Given the description of an element on the screen output the (x, y) to click on. 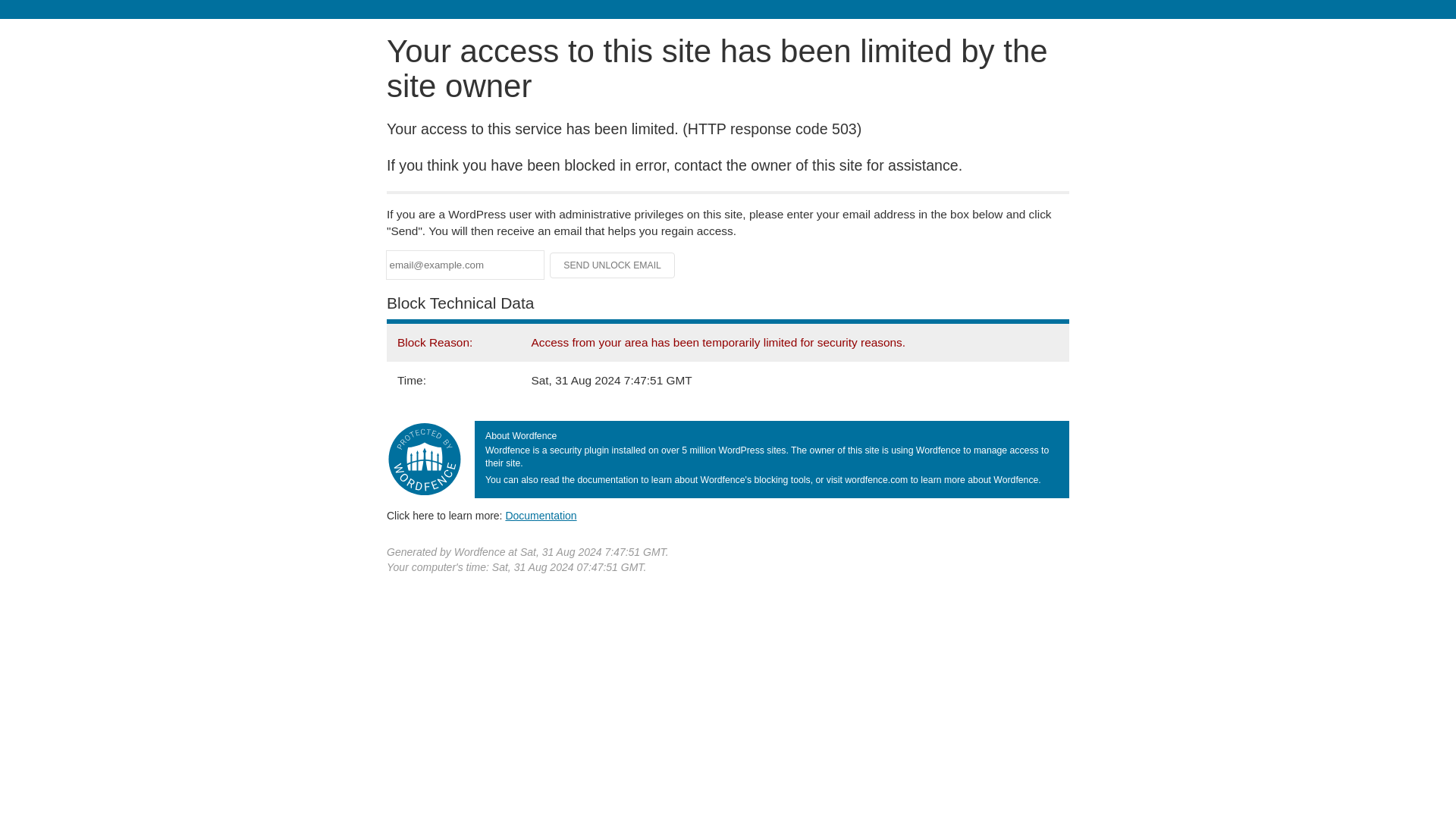
Send Unlock Email (612, 265)
Send Unlock Email (612, 265)
Documentation (540, 515)
